Given the description of an element on the screen output the (x, y) to click on. 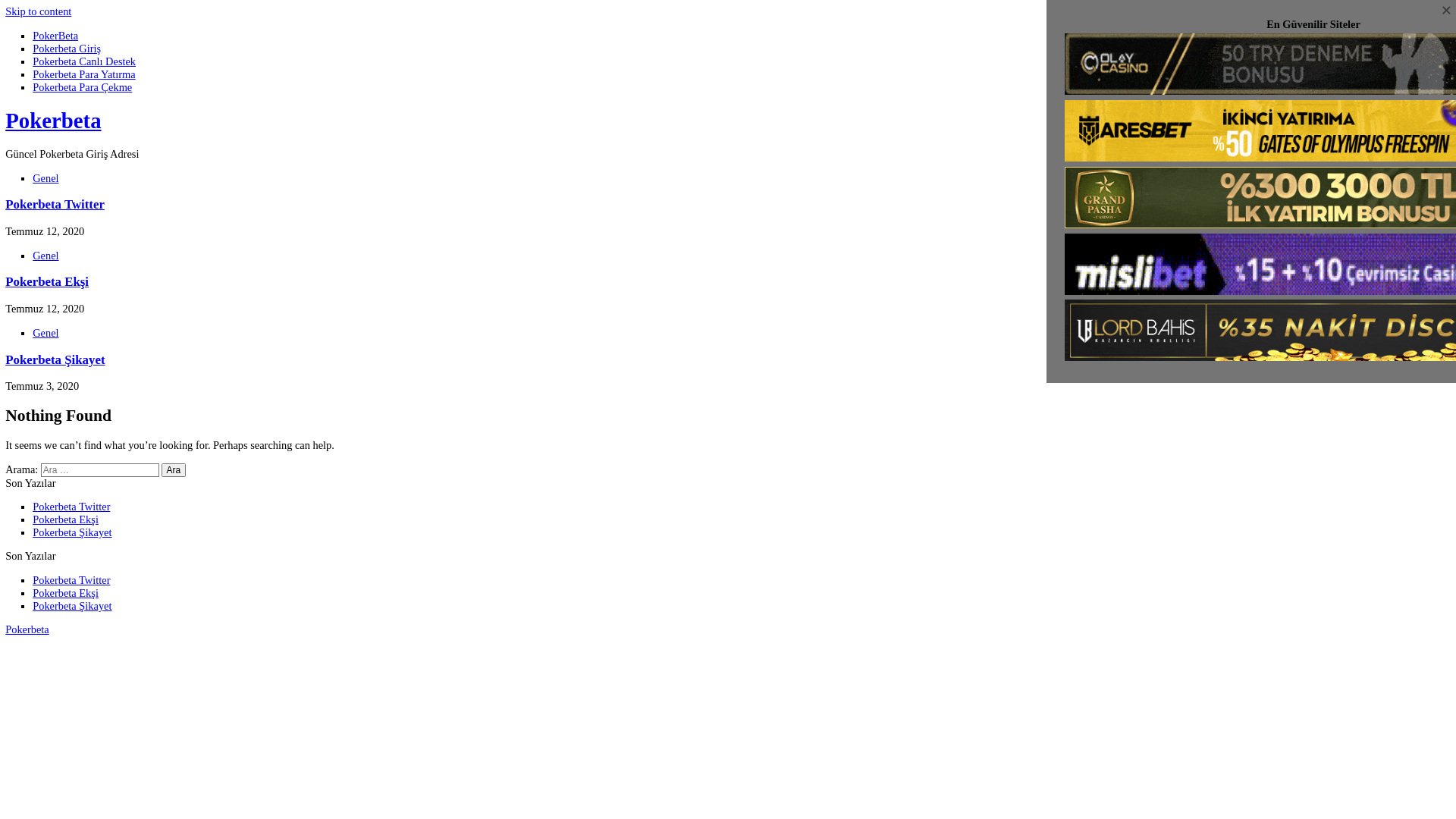
Pokerbeta Element type: text (59, 133)
Pokerbeta Twitter Element type: text (79, 562)
Genel Element type: text (50, 369)
Genel Element type: text (50, 283)
Pokerbeta Element type: text (30, 699)
PokerBeta Element type: text (61, 39)
Ara Element type: text (192, 522)
Pokerbeta Twitter Element type: text (61, 227)
Genel Element type: text (50, 197)
Skip to content Element type: text (42, 12)
Pokerbeta Twitter Element type: text (79, 644)
